Given the description of an element on the screen output the (x, y) to click on. 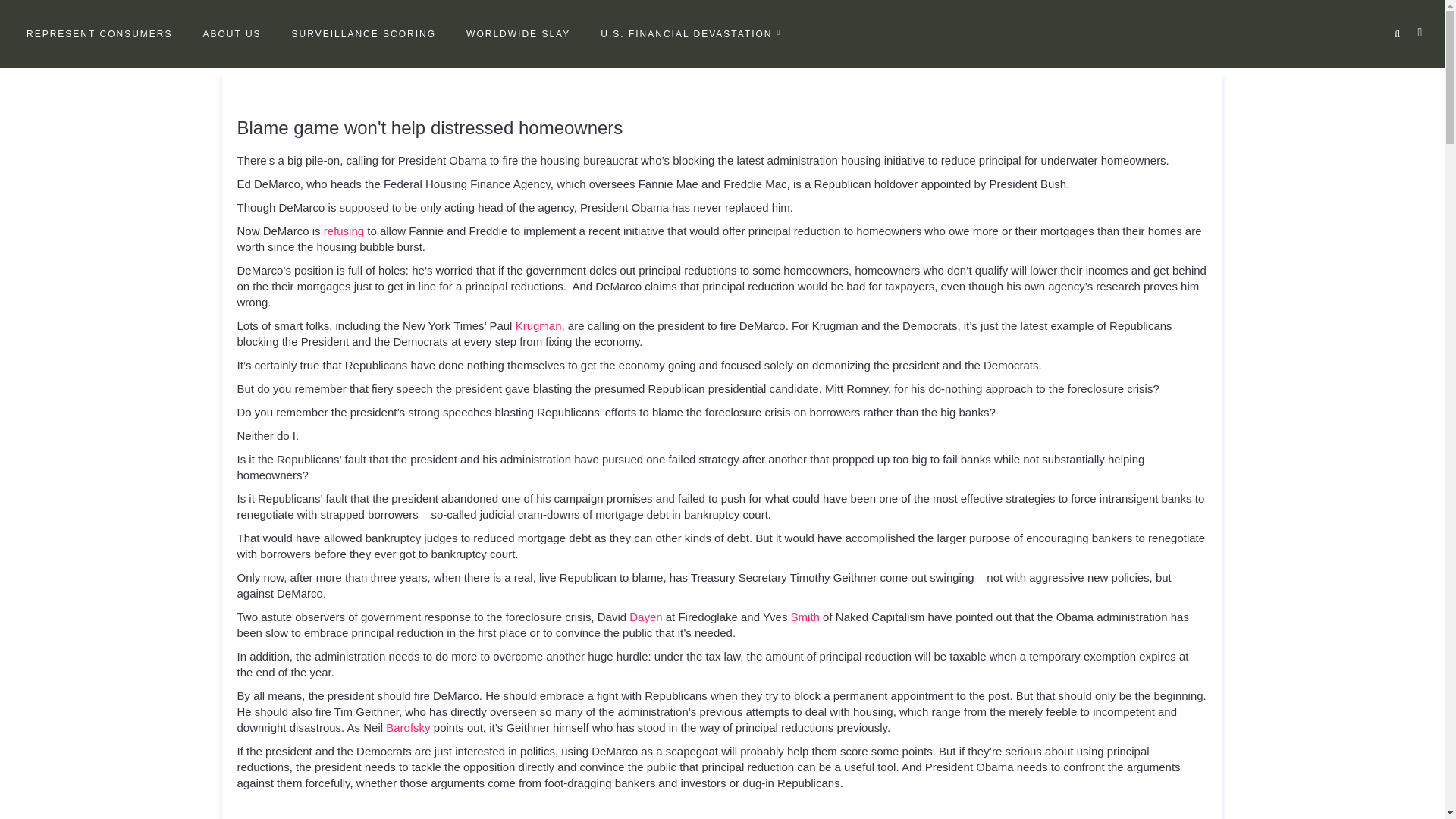
SURVEILLANCE SCORING (364, 33)
Smith (804, 616)
refusing (343, 230)
Blame game won't help distressed homeowners (429, 127)
REPRESENT CONSUMERS (98, 33)
Dayen (645, 616)
WORLDWIDE SLAY (517, 33)
Krugman (538, 325)
Barofsky (407, 727)
U.S. FINANCIAL DEVASTATION (690, 33)
ABOUT US (231, 33)
